Given the description of an element on the screen output the (x, y) to click on. 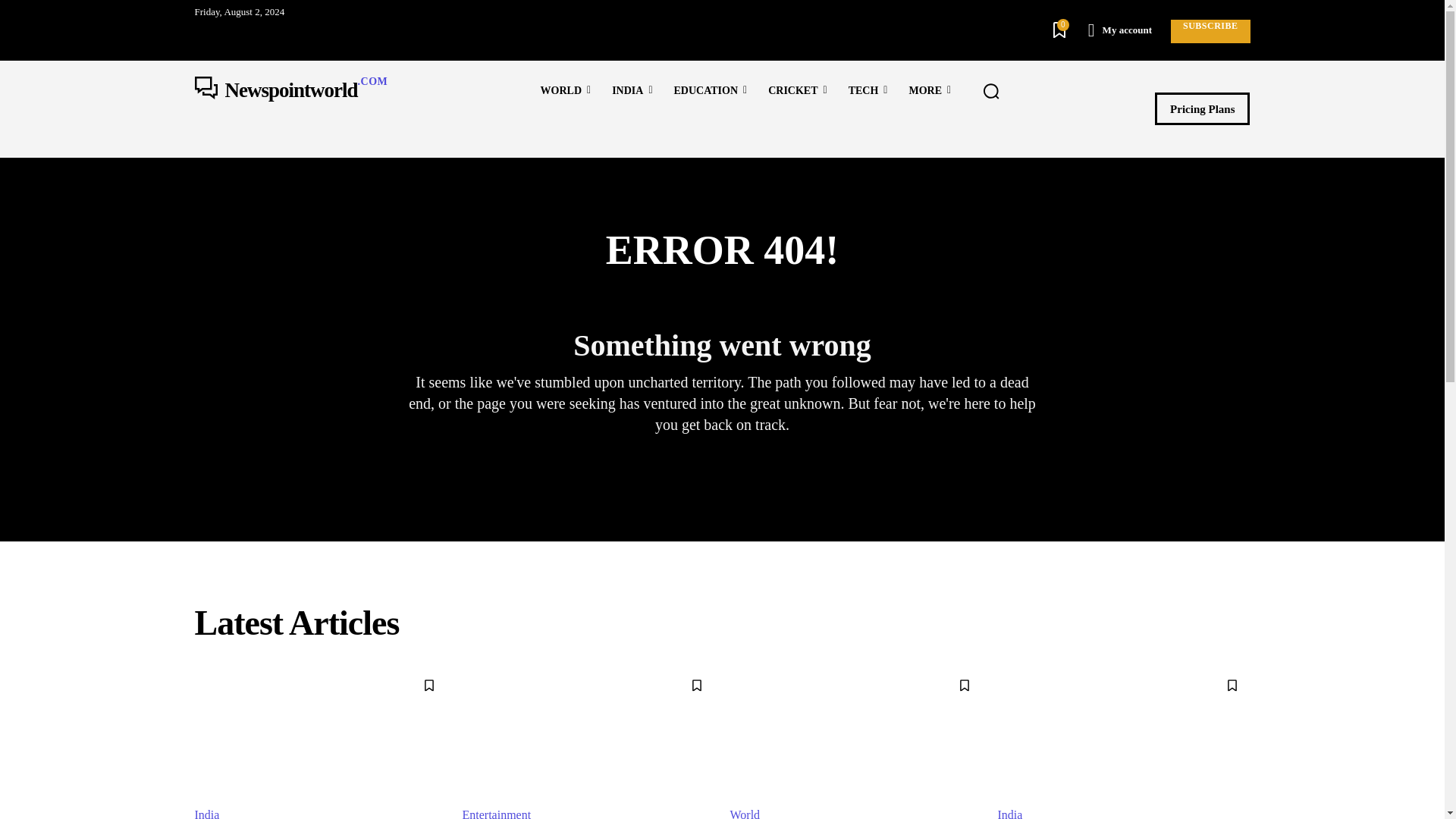
Subscribe (1210, 31)
